Given the description of an element on the screen output the (x, y) to click on. 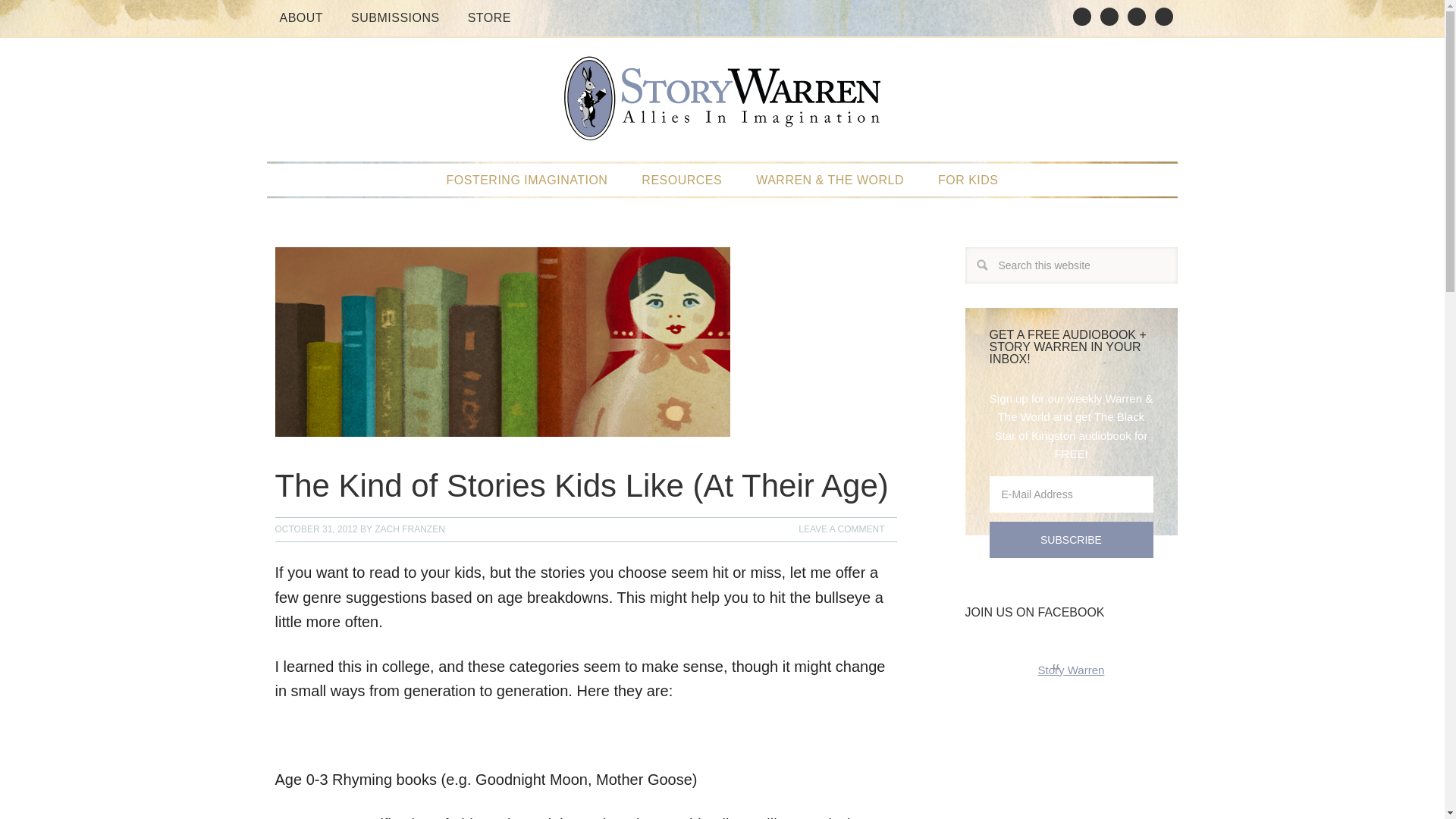
LEAVE A COMMENT (841, 528)
RESOURCES (681, 179)
FOR KIDS (968, 179)
ABOUT (300, 18)
Subscribe (1070, 539)
STORE (488, 18)
FOSTERING IMAGINATION (526, 179)
SUBMISSIONS (395, 18)
STORY WARREN (722, 105)
ZACH FRANZEN (409, 529)
